Given the description of an element on the screen output the (x, y) to click on. 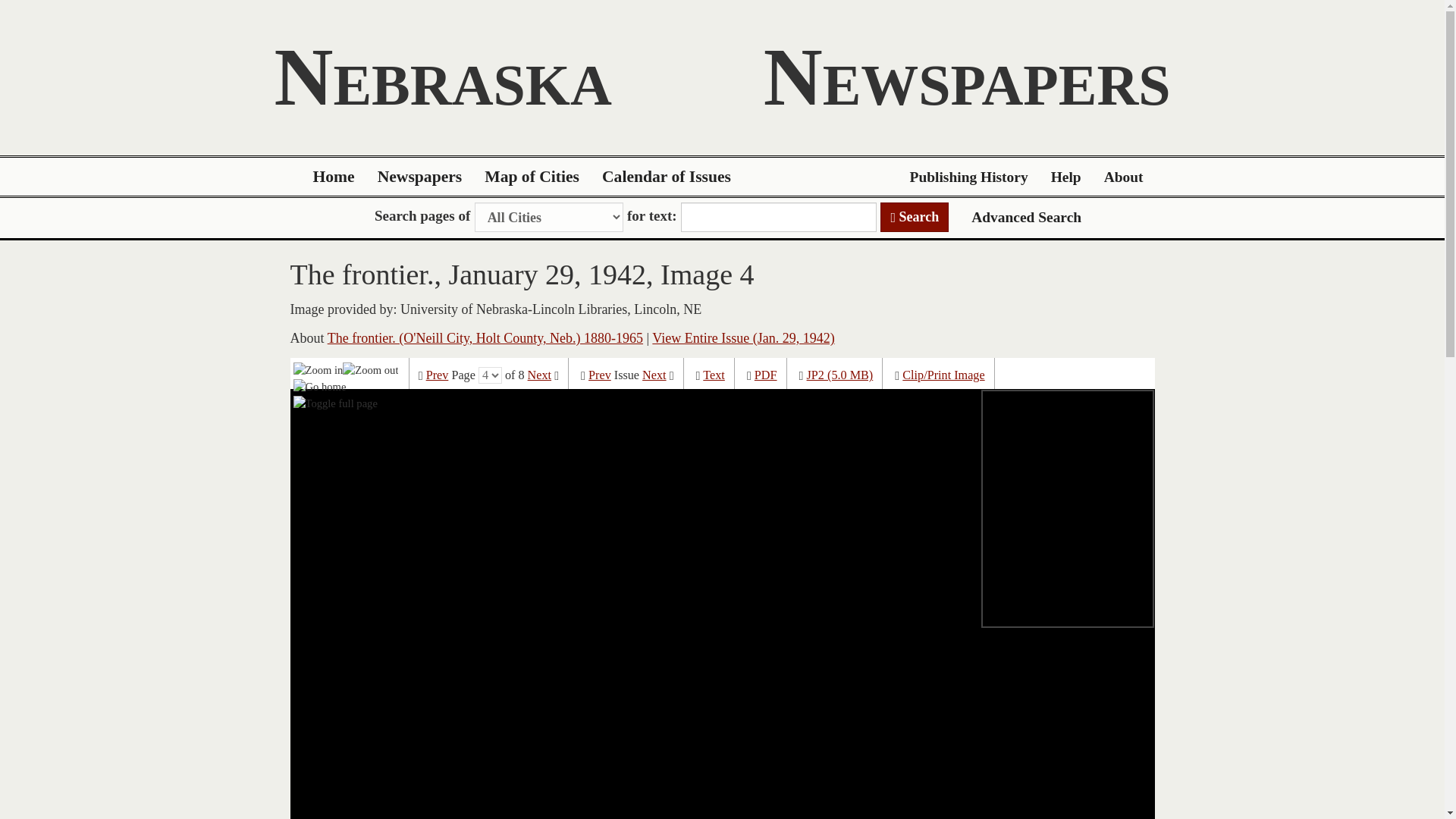
Map of Cities (532, 176)
Search (914, 217)
PDF (765, 375)
Advanced Search (1026, 216)
Prev (437, 375)
About (1123, 176)
Text (714, 375)
Help (1066, 176)
Zoom out (369, 369)
Zoom in (318, 369)
Newspapers (420, 176)
Calendar of Issues (666, 176)
Prev (599, 375)
Next (653, 375)
Next (539, 375)
